Given the description of an element on the screen output the (x, y) to click on. 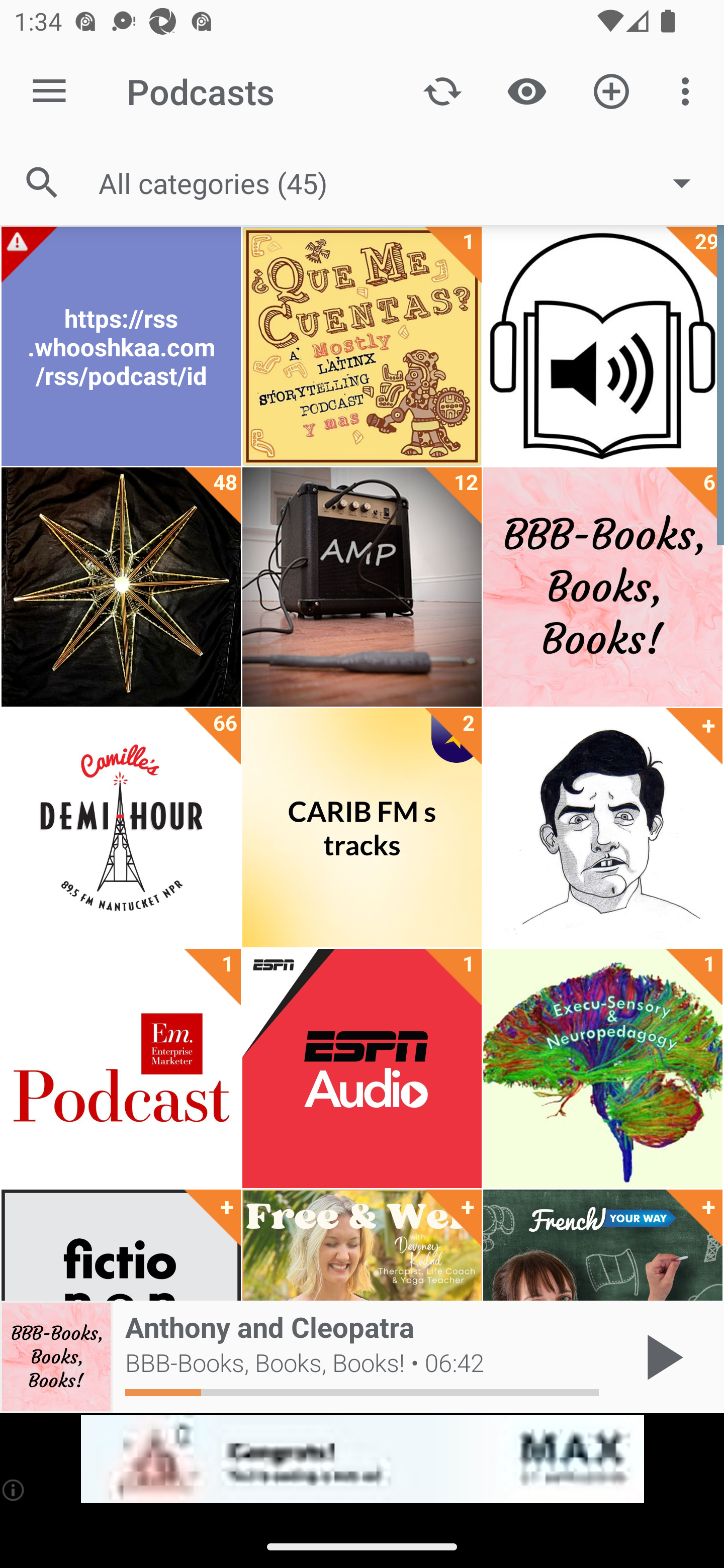
Open navigation sidebar (49, 91)
Update (442, 90)
Show / Hide played content (526, 90)
Add new Podcast (611, 90)
More options (688, 90)
Search (42, 183)
All categories (45) (404, 182)
https://rss.whooshkaa.com/rss/podcast/id/5884 (121, 346)
¿Qué Me Cuentas?: Latinx Storytelling 1 (361, 346)
Audiobooks 29 (602, 346)
Audiobooks 48 (121, 587)
Australian Music Podcasts 12 (361, 587)
BBB-Books, Books, Books! 6 (602, 587)
Camille's Demi-Hour - NANTUCKET NPR 66 (121, 827)
CARIB FM's tracks 2 (361, 827)
Cooking Issues with Dave Arnold + (602, 827)
Enterprise Marketer Podcast - Conference 1 (121, 1068)
ESPN Audio 1 (361, 1068)
Play / Pause (660, 1356)
app-monetization (362, 1459)
(i) (14, 1489)
